Given the description of an element on the screen output the (x, y) to click on. 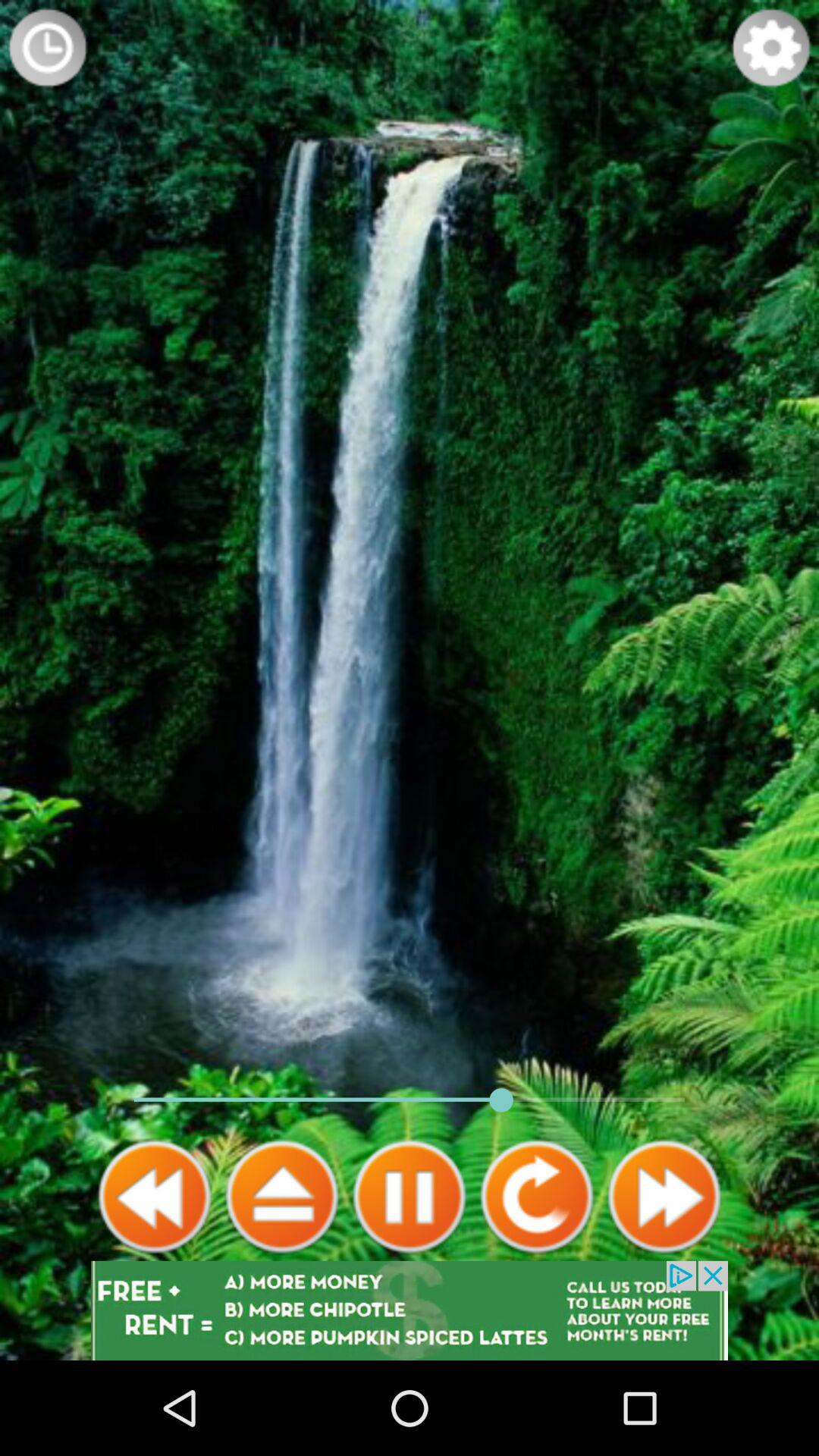
pause audio (409, 1196)
